Given the description of an element on the screen output the (x, y) to click on. 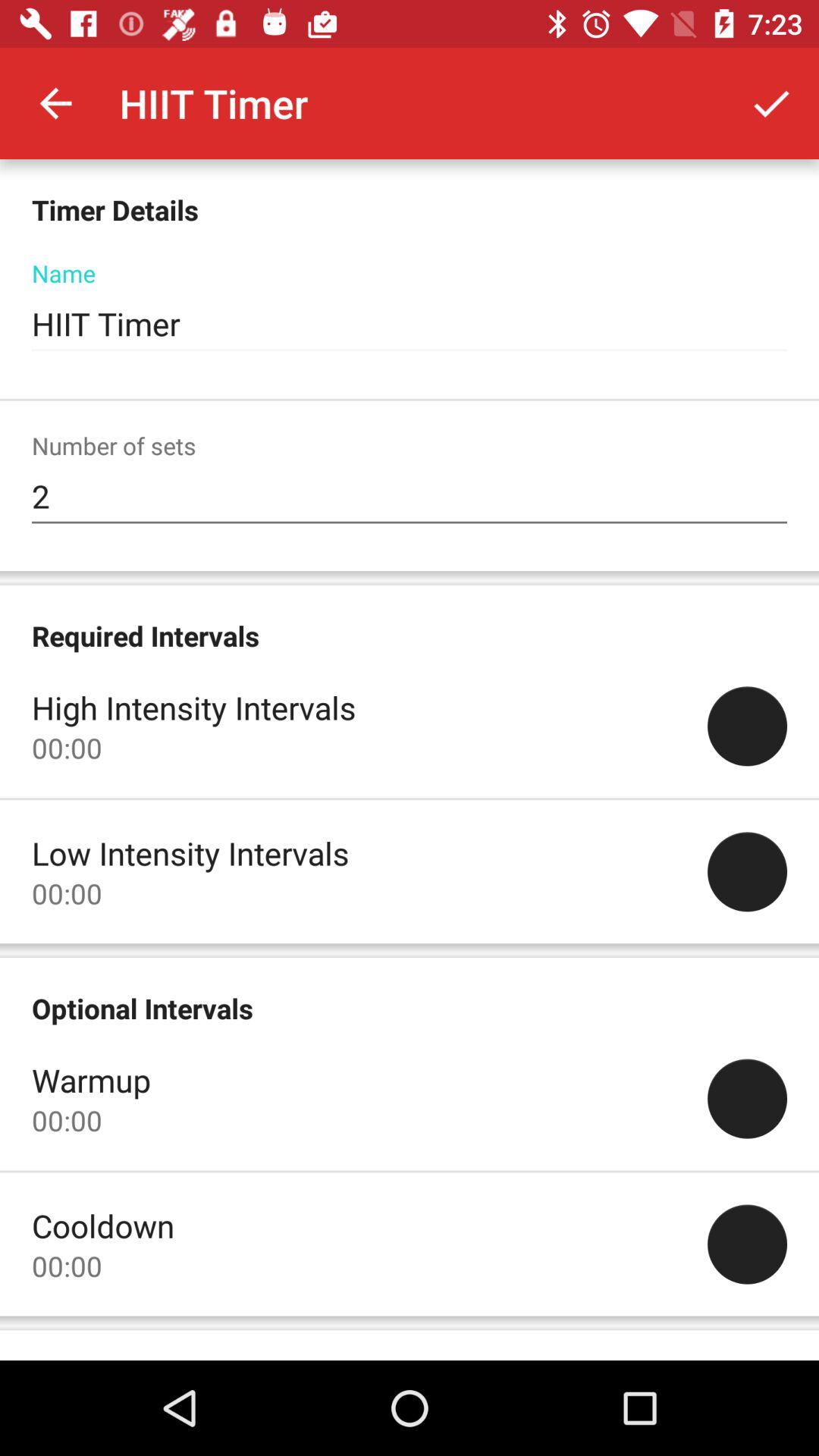
click on the button which is next to the hiit timer (771, 103)
click on the field of number of sets (409, 496)
select the text hiit timer which is under name (409, 324)
